Given the description of an element on the screen output the (x, y) to click on. 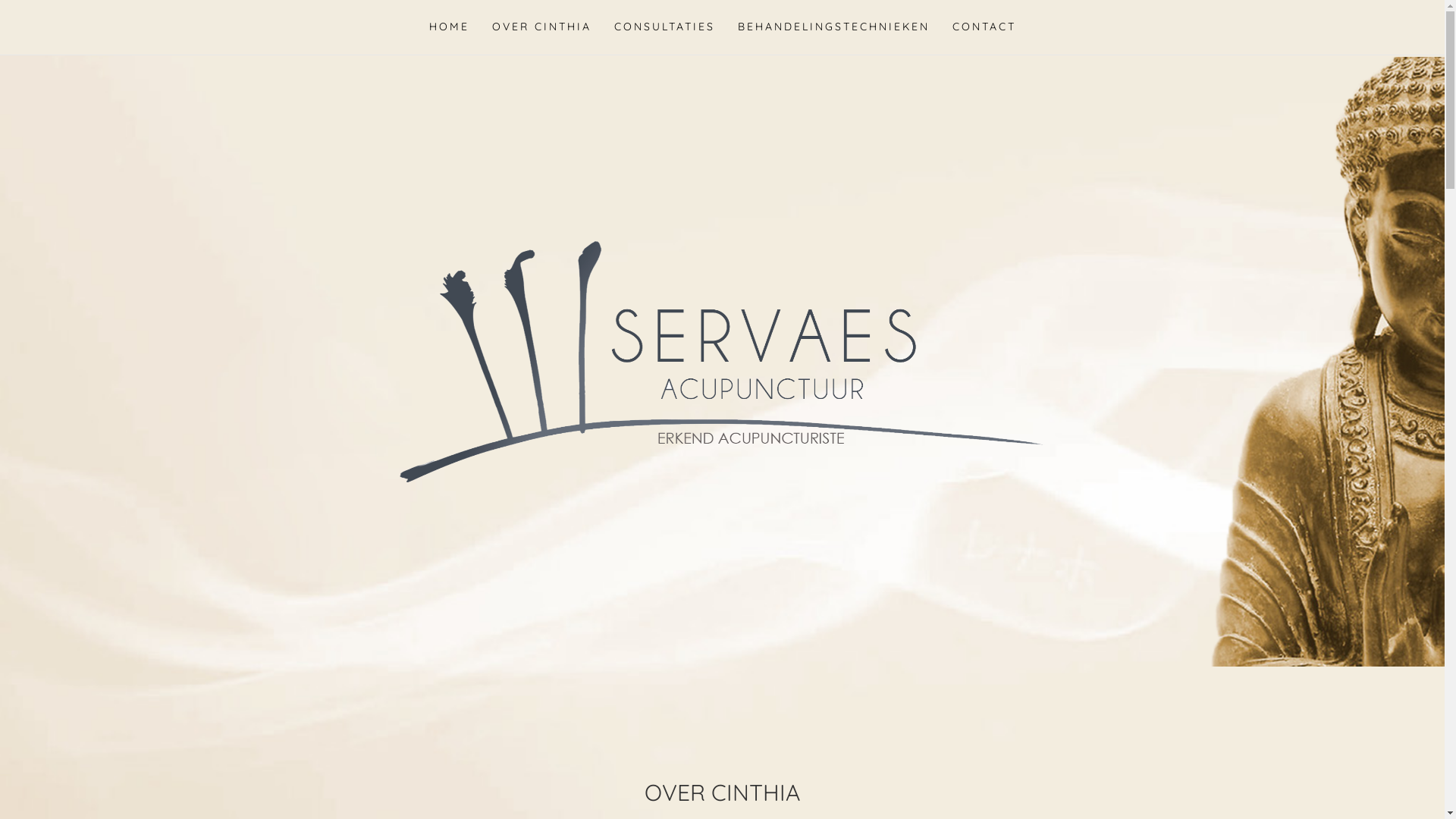
OVER CINTHIA Element type: text (541, 27)
CONTACT Element type: text (983, 27)
CONSULTATIES Element type: text (663, 27)
BEHANDELINGSTECHNIEKEN Element type: text (833, 27)
HOME Element type: text (448, 27)
